Given the description of an element on the screen output the (x, y) to click on. 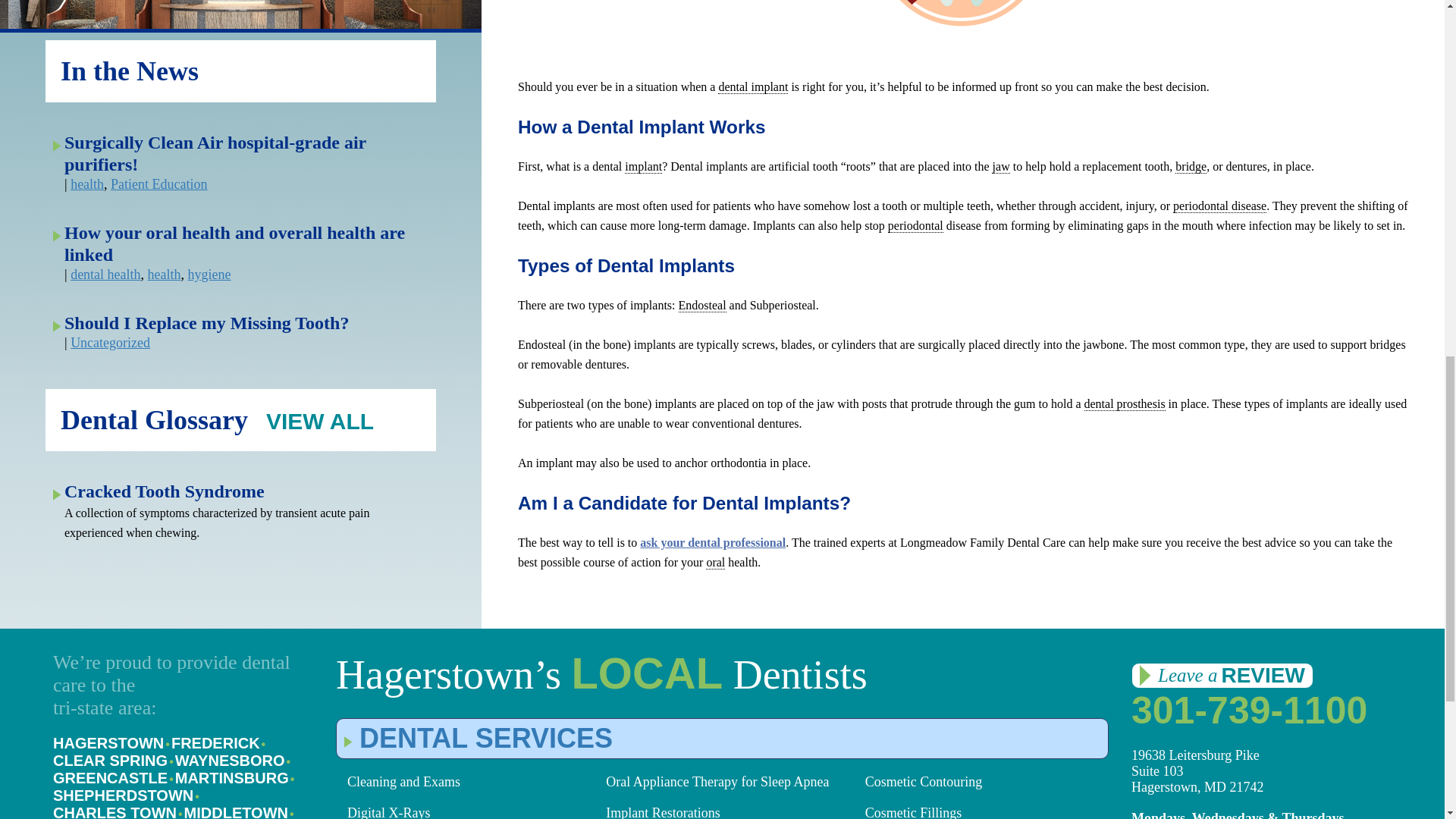
Endosteal (701, 305)
implant (643, 166)
Surgically Clean Air hospital-grade air purifiers! (215, 153)
ask your dental professional (713, 542)
Patient Education (158, 183)
periodontal disease (1219, 205)
dental prosthesis (1125, 404)
jaw (1001, 166)
bridge (1190, 166)
periodontal (915, 225)
